Given the description of an element on the screen output the (x, y) to click on. 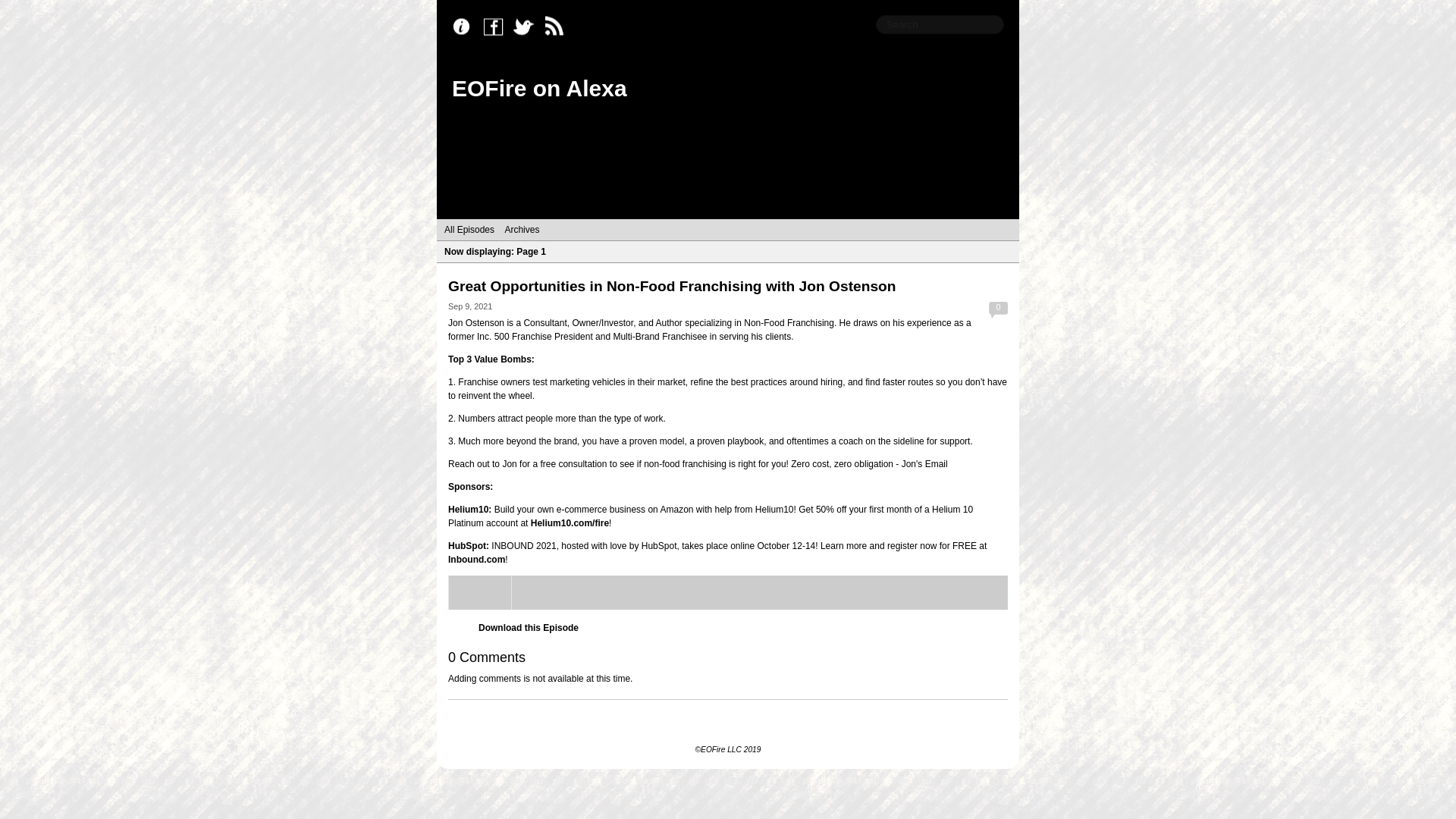
Facebook (496, 26)
Libsyn Player (727, 592)
EOFire on Alexa (539, 88)
Twitter (527, 26)
RSS Feed (558, 26)
